Given the description of an element on the screen output the (x, y) to click on. 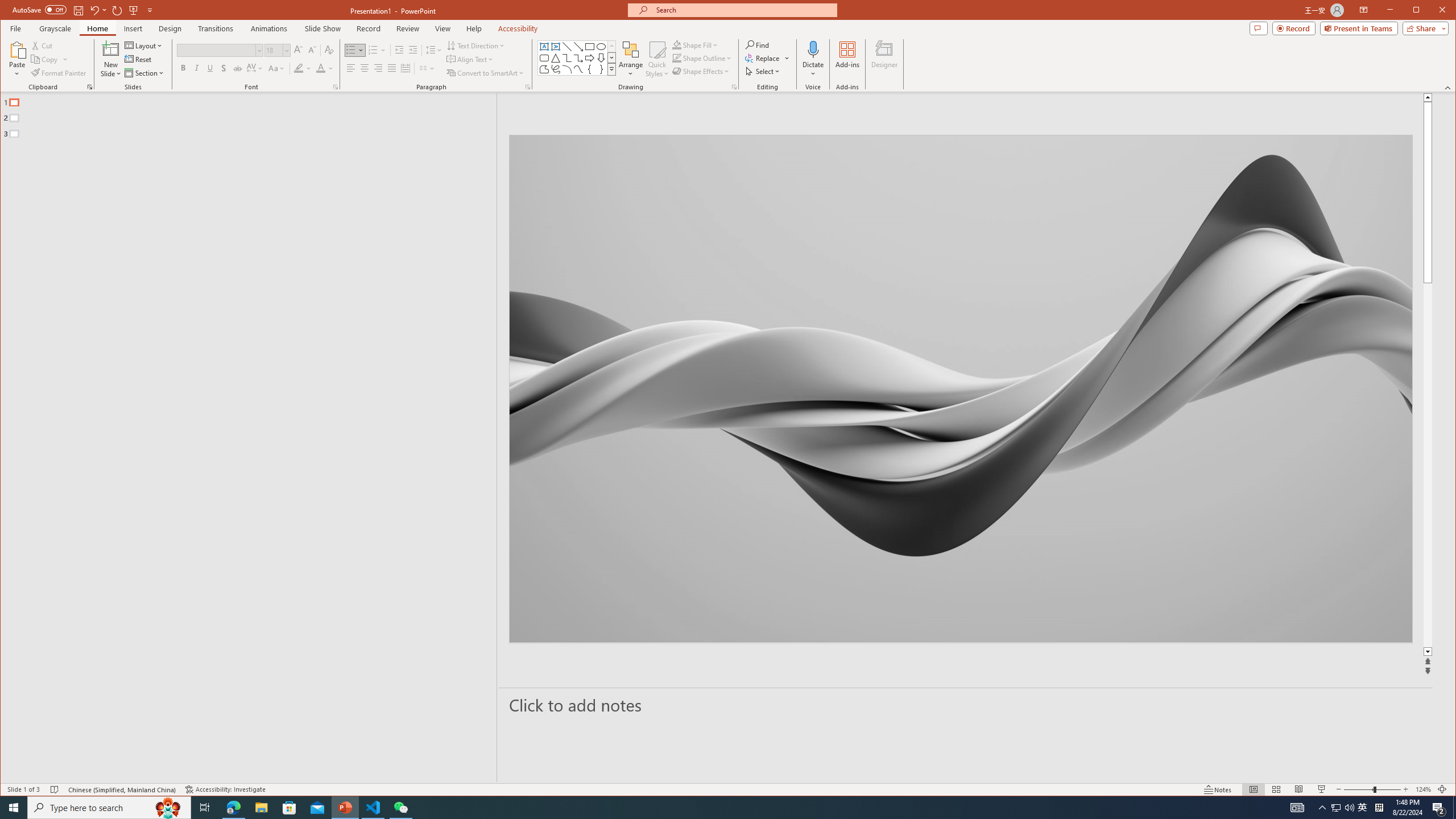
Wavy 3D art (960, 388)
